Given the description of an element on the screen output the (x, y) to click on. 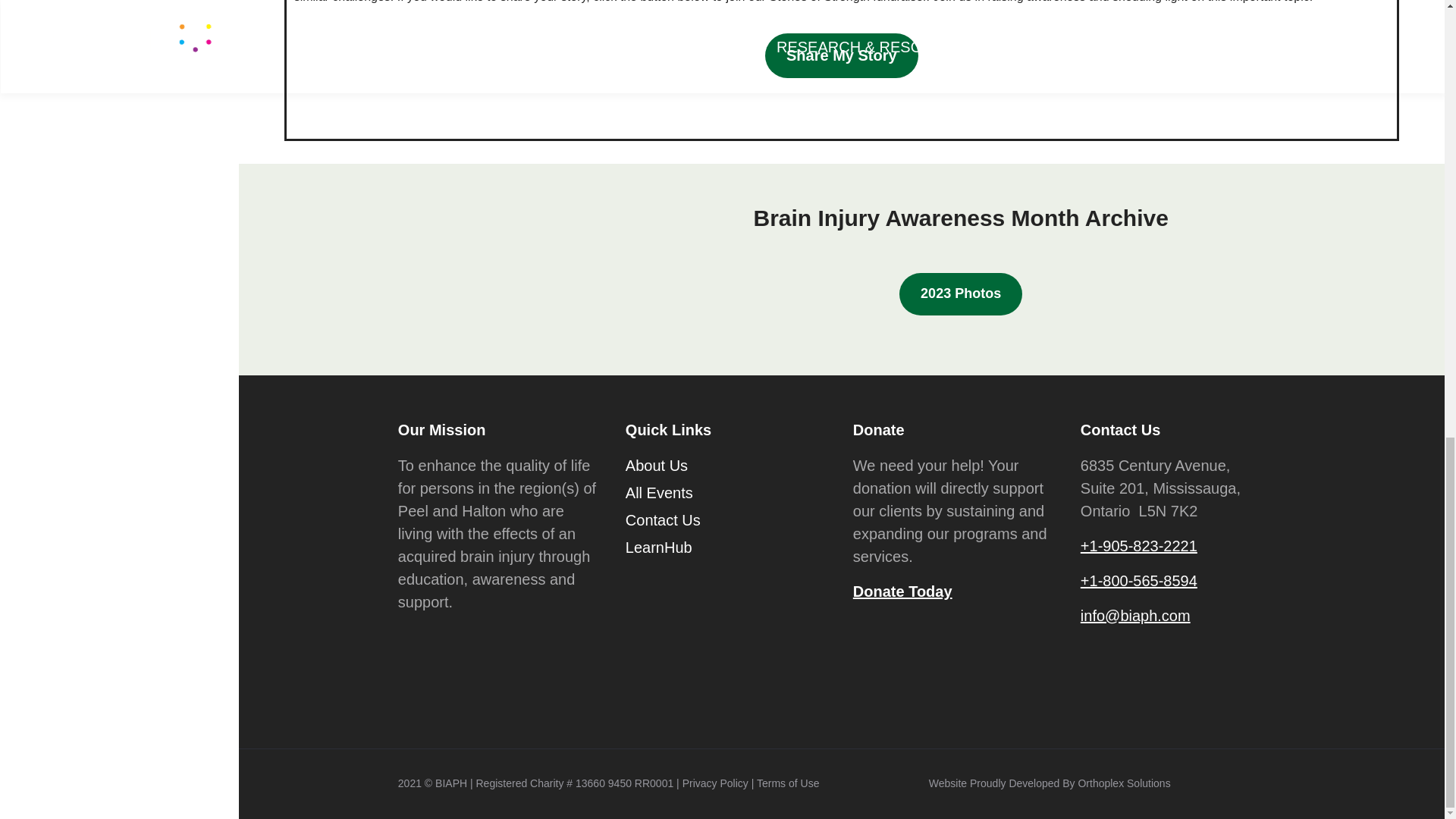
Share My Story (841, 55)
2023 Photos (960, 293)
About Us (656, 468)
